Given the description of an element on the screen output the (x, y) to click on. 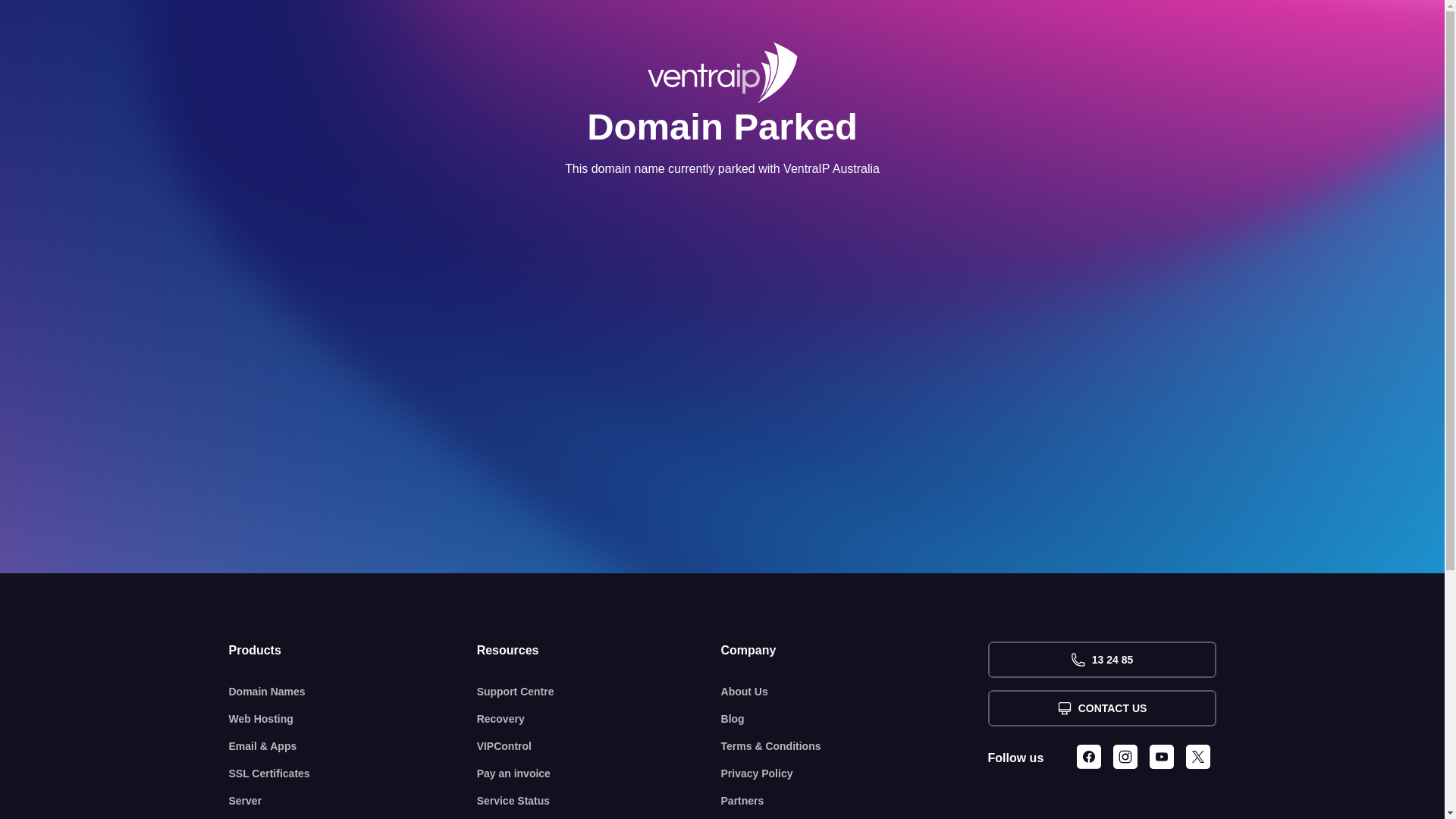
Blog Element type: text (854, 718)
Email & Apps Element type: text (352, 745)
Privacy Policy Element type: text (854, 773)
CONTACT US Element type: text (1101, 708)
Pay an invoice Element type: text (598, 773)
Service Status Element type: text (598, 800)
Domain Names Element type: text (352, 691)
Terms & Conditions Element type: text (854, 745)
SSL Certificates Element type: text (352, 773)
13 24 85 Element type: text (1101, 659)
VIPControl Element type: text (598, 745)
Recovery Element type: text (598, 718)
Support Centre Element type: text (598, 691)
Web Hosting Element type: text (352, 718)
About Us Element type: text (854, 691)
Partners Element type: text (854, 800)
Server Element type: text (352, 800)
